Given the description of an element on the screen output the (x, y) to click on. 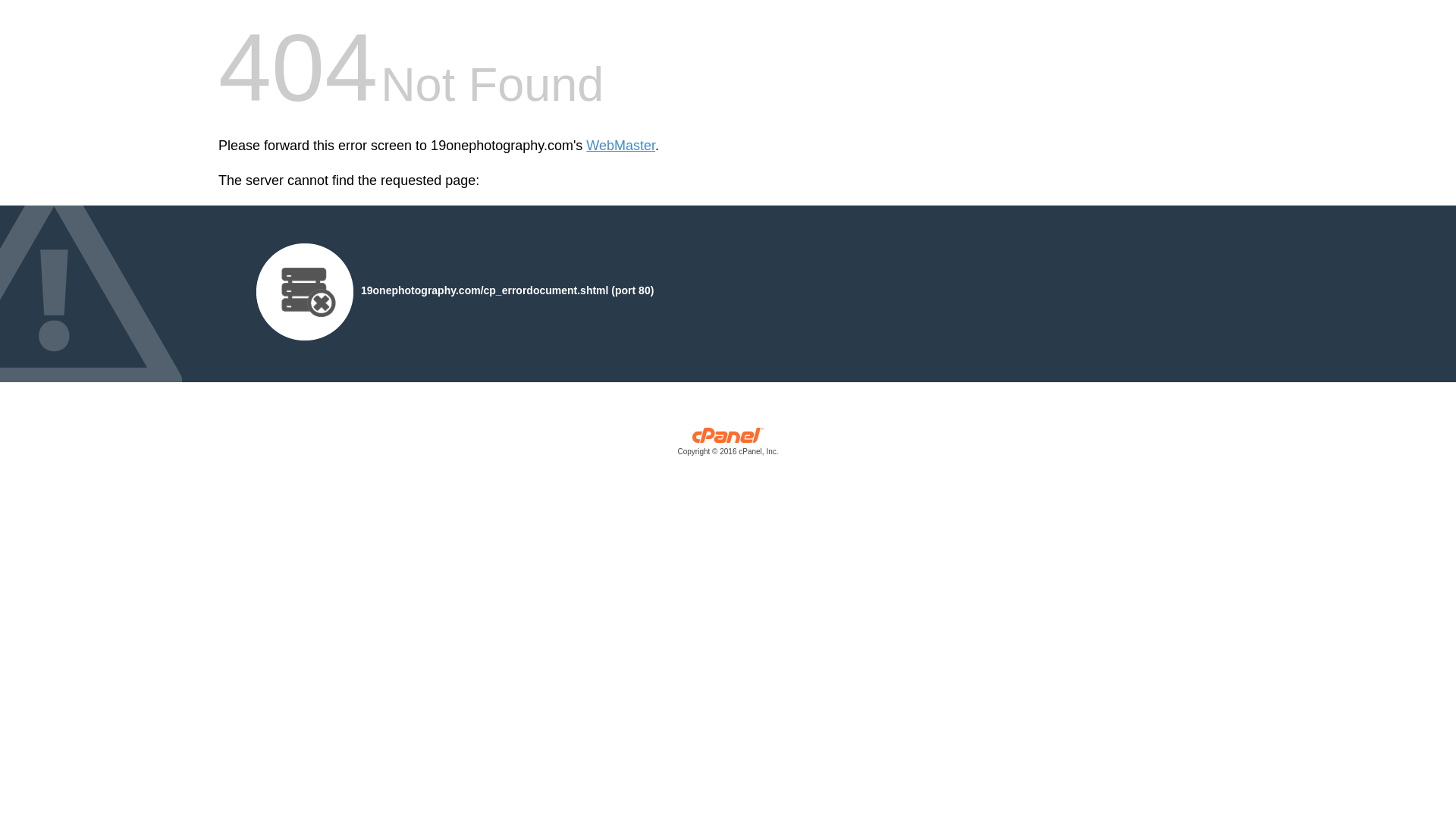
WebMaster Element type: text (620, 145)
